Given the description of an element on the screen output the (x, y) to click on. 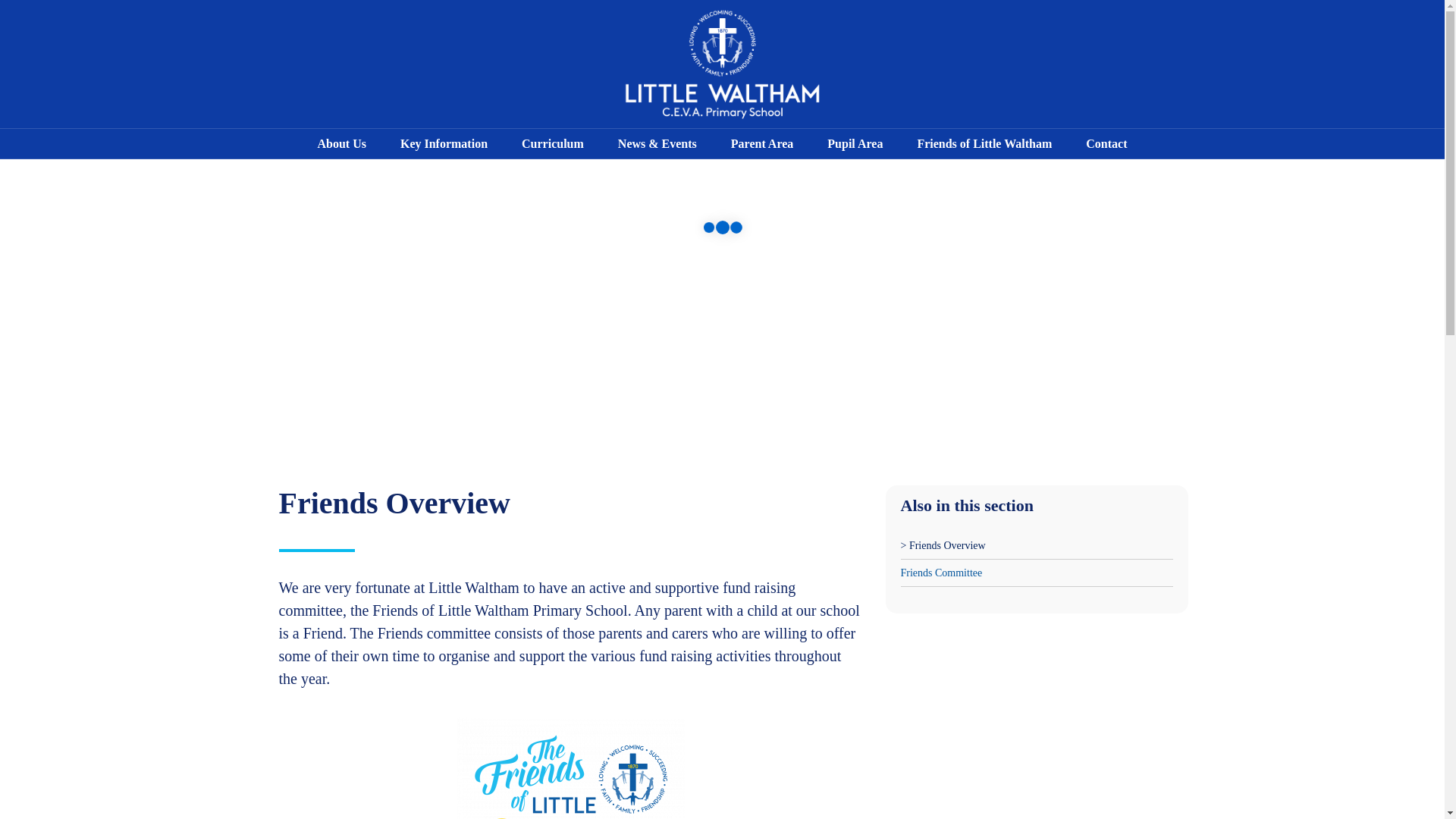
About Us (340, 143)
Key Information (442, 143)
Little Waltham C.E.V.A. Primary School (721, 64)
Curriculum (553, 143)
